Given the description of an element on the screen output the (x, y) to click on. 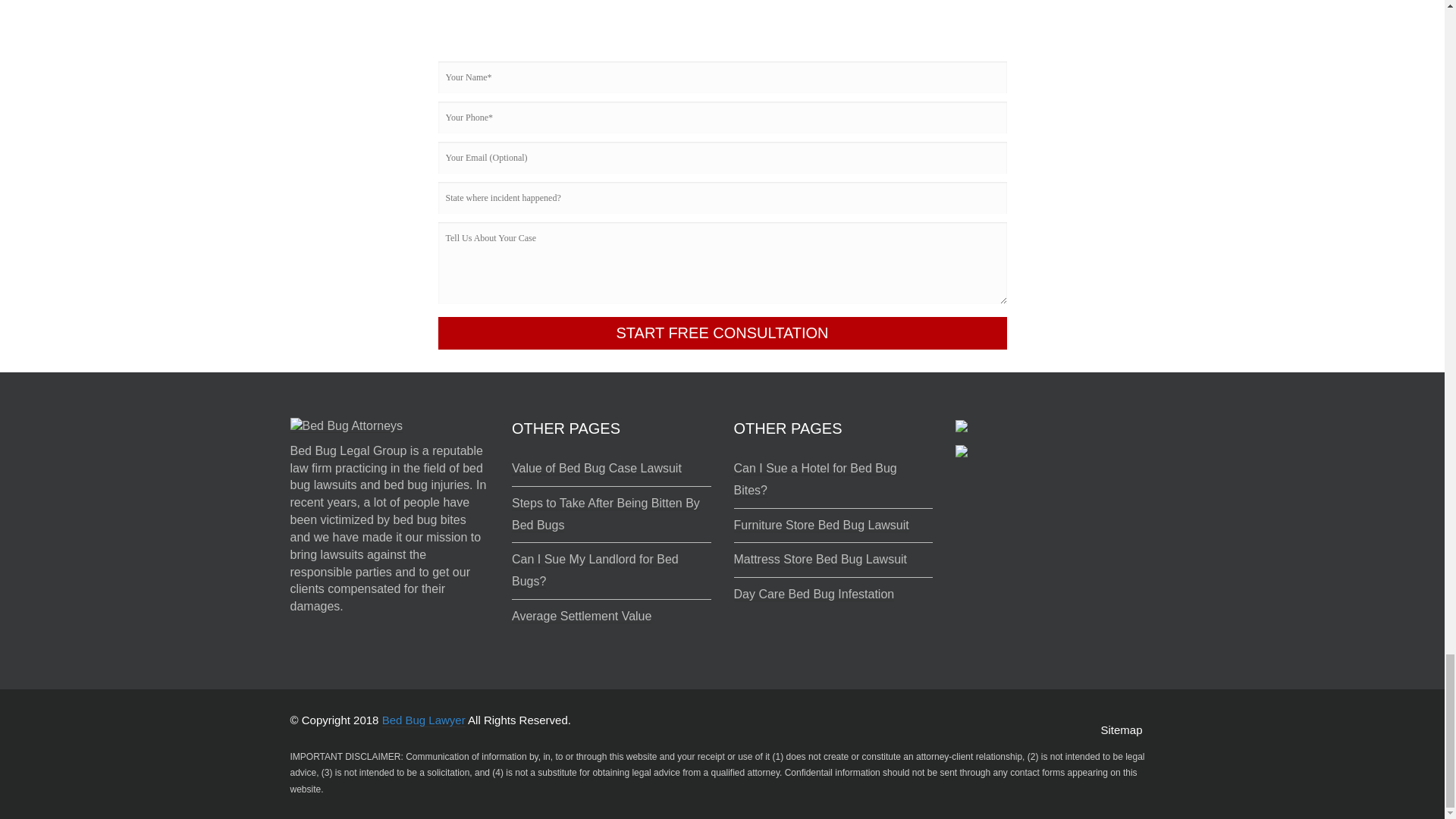
Value of Bed Bug Case Lawsuit (596, 468)
Bed Bug Lawyer (423, 720)
Mattress Store Bed Bug Lawsuit (820, 559)
Can I Sue My Landlord for Bed Bugs? (595, 570)
START FREE CONSULTATION (722, 332)
Average Settlement Value (581, 616)
Steps to Take After Being Bitten By Bed Bugs (606, 514)
Bed Bug Legal Group (347, 450)
START FREE CONSULTATION (722, 332)
Furniture Store Bed Bug Lawsuit (820, 525)
Can I Sue a Hotel for Bed Bug Bites? (814, 479)
Day Care Bed Bug Infestation (814, 594)
Sitemap (1121, 729)
